Given the description of an element on the screen output the (x, y) to click on. 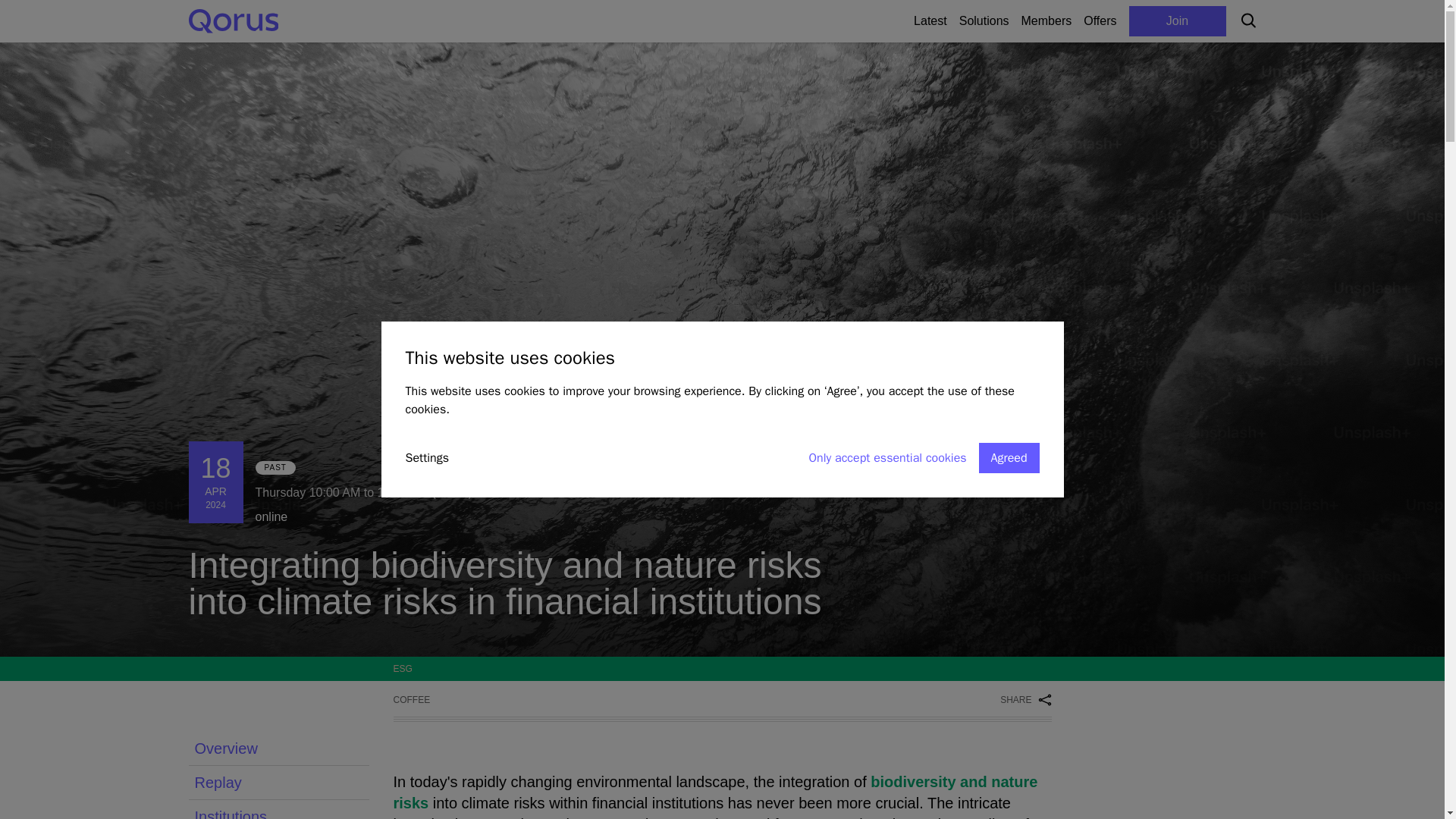
Overview (1069, 21)
Members (277, 748)
Institutions (1046, 21)
SHARE (277, 809)
Replay (1025, 699)
Join (277, 782)
Solutions (1176, 21)
